Given the description of an element on the screen output the (x, y) to click on. 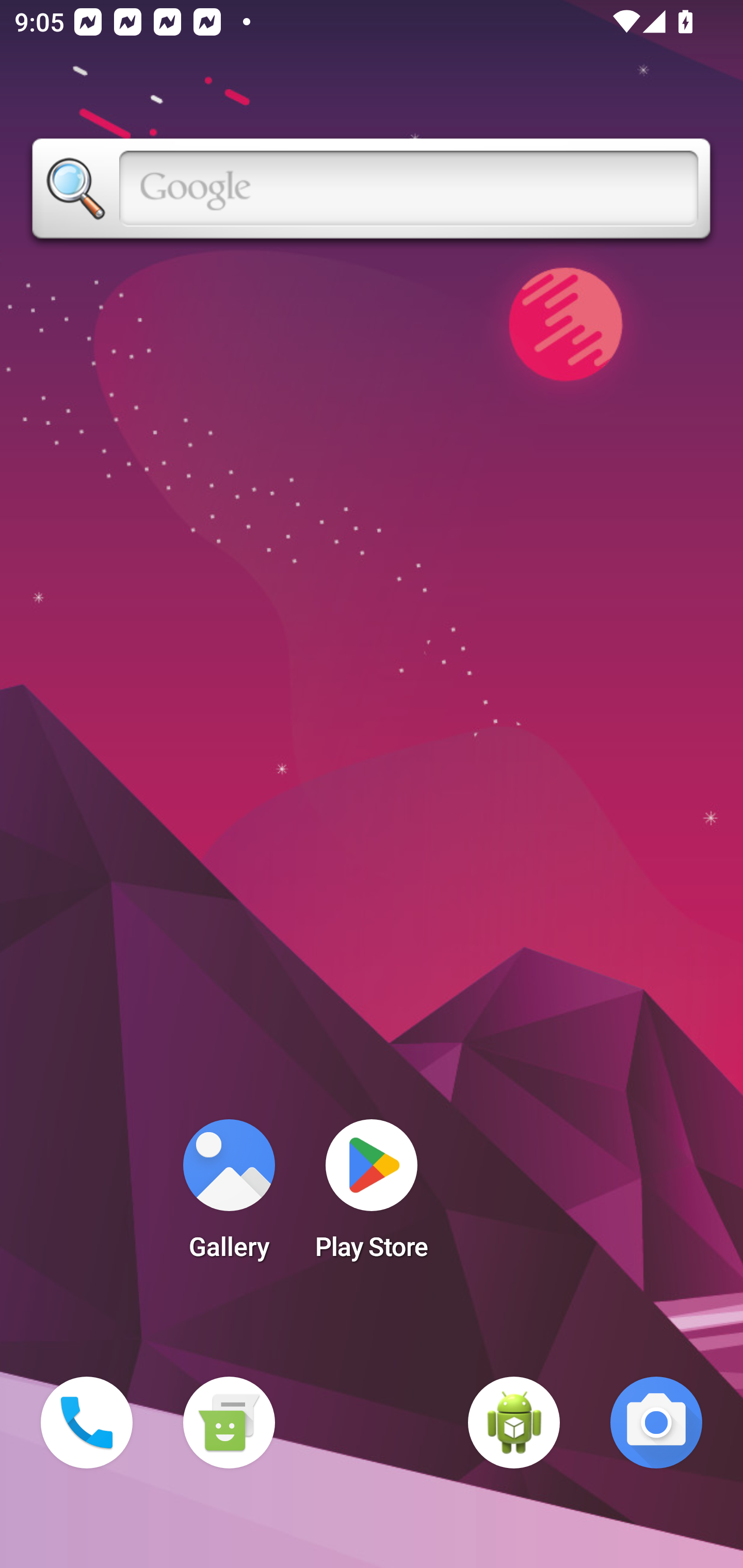
Gallery (228, 1195)
Play Store (371, 1195)
Phone (86, 1422)
Messaging (228, 1422)
WebView Browser Tester (513, 1422)
Camera (656, 1422)
